Given the description of an element on the screen output the (x, y) to click on. 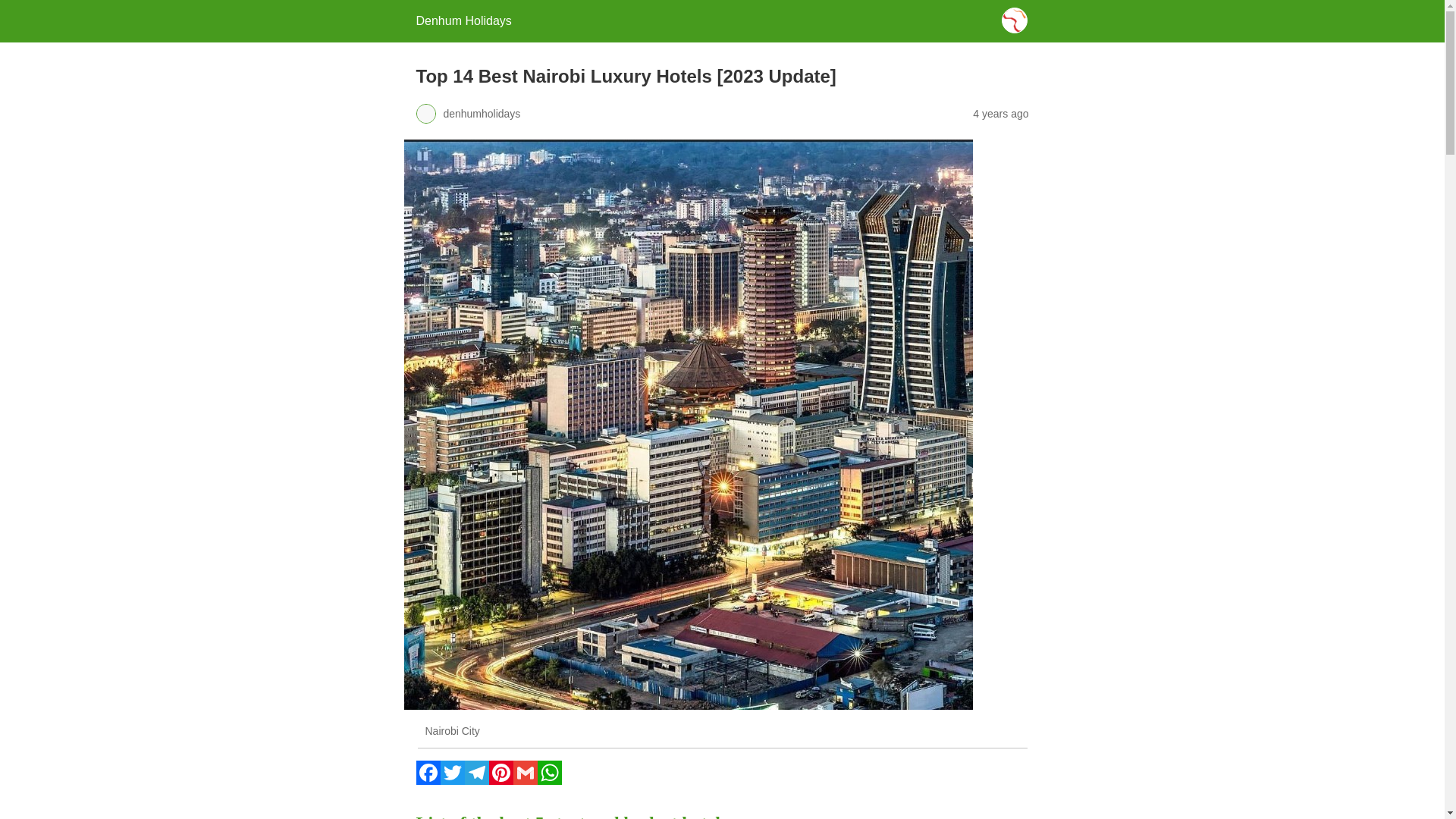
Pinterest (499, 780)
Facebook (426, 780)
Denhum Holidays (462, 20)
WhatsApp (548, 780)
List of the best 5 start and budget hotels (570, 816)
Gmail (524, 780)
Twitter (451, 780)
Telegram (475, 780)
